Given the description of an element on the screen output the (x, y) to click on. 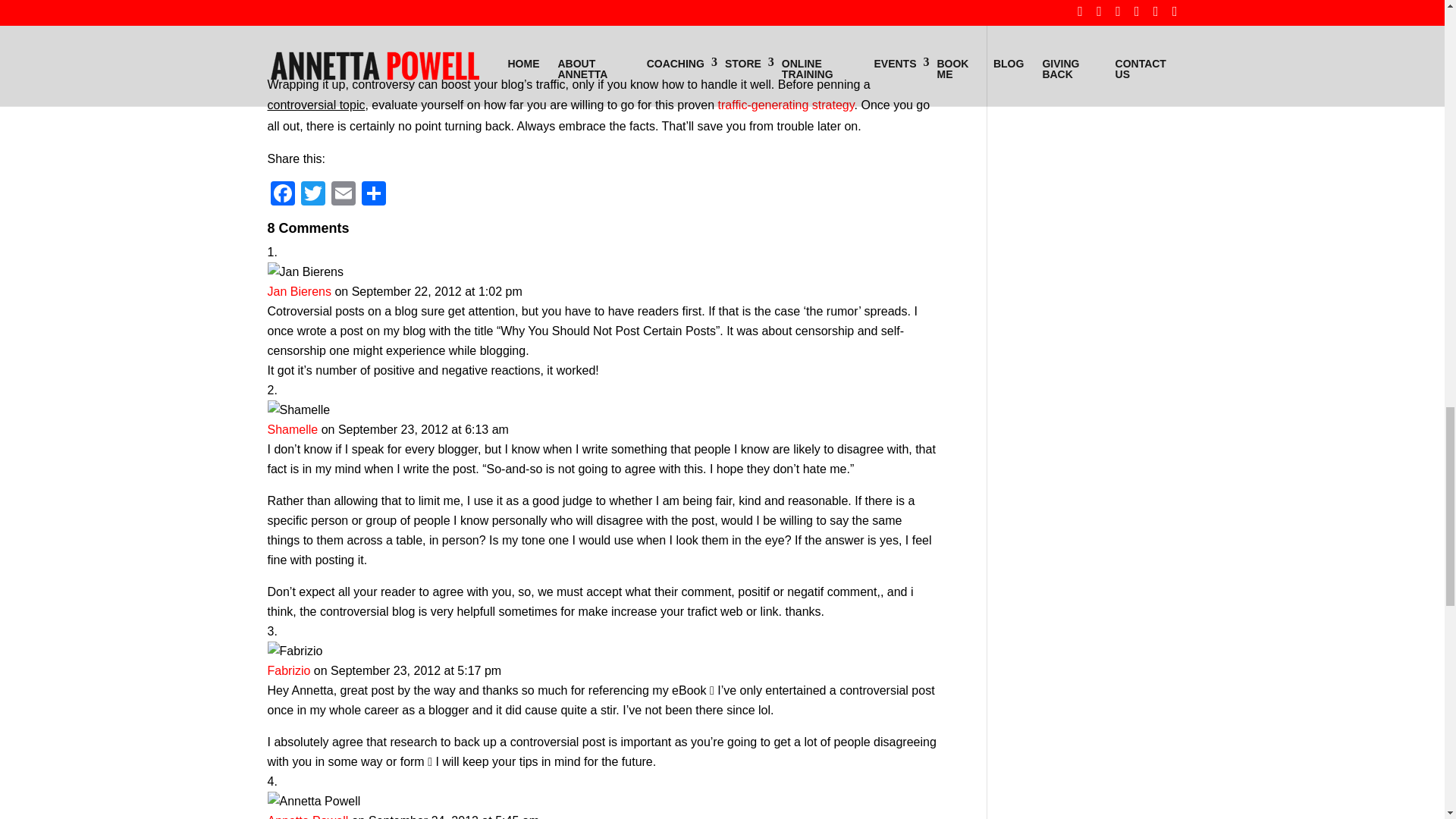
Facebook (281, 194)
Simple Ways of Online Marketing (785, 104)
Twitter (312, 194)
Email (342, 194)
